Given the description of an element on the screen output the (x, y) to click on. 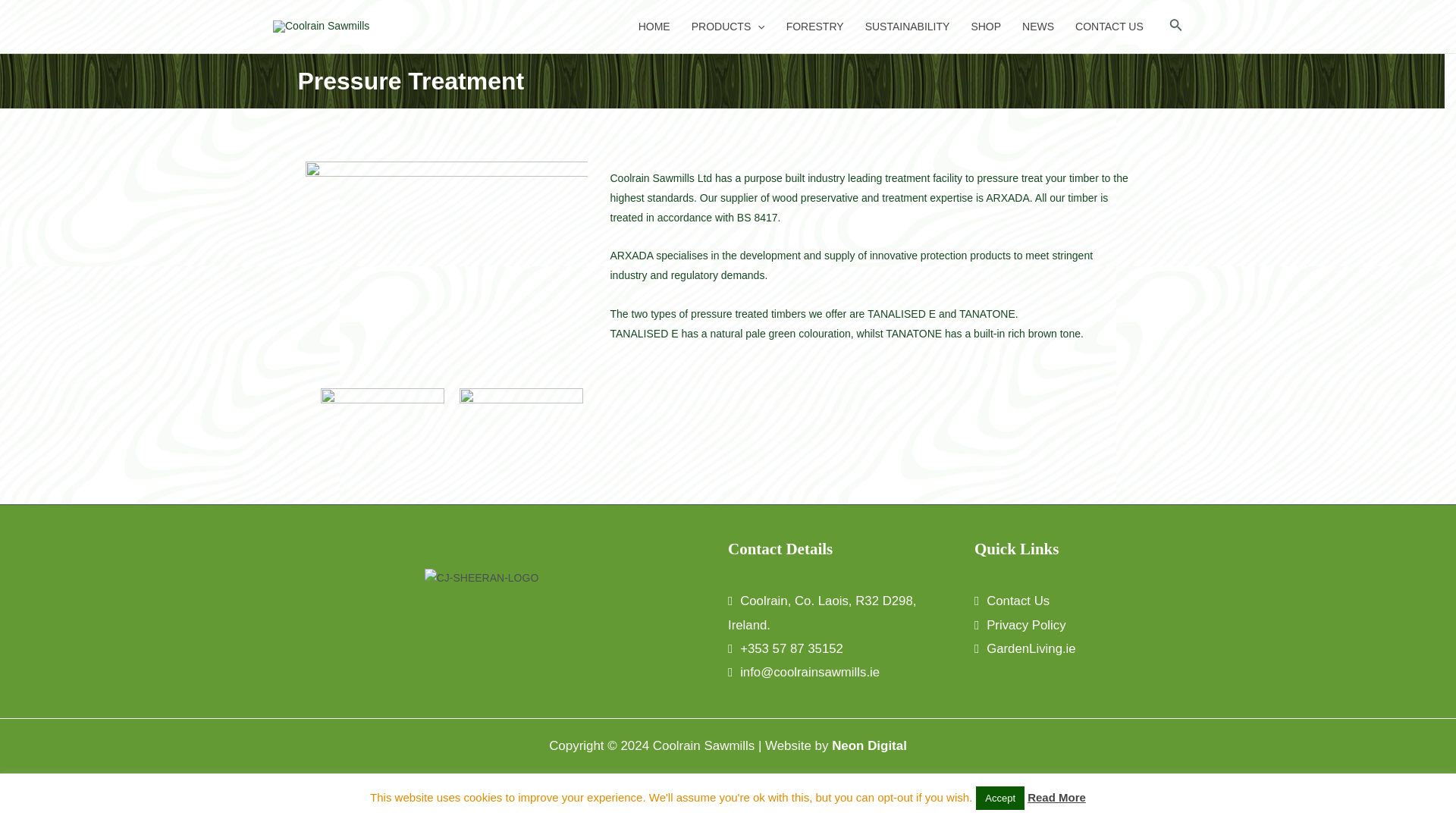
HOME (654, 26)
SUSTAINABILITY (907, 26)
SHOP (985, 26)
CONTACT US (1109, 26)
Search (1175, 26)
NEWS (1037, 26)
FORESTRY (815, 26)
PRODUCTS (728, 26)
